Given the description of an element on the screen output the (x, y) to click on. 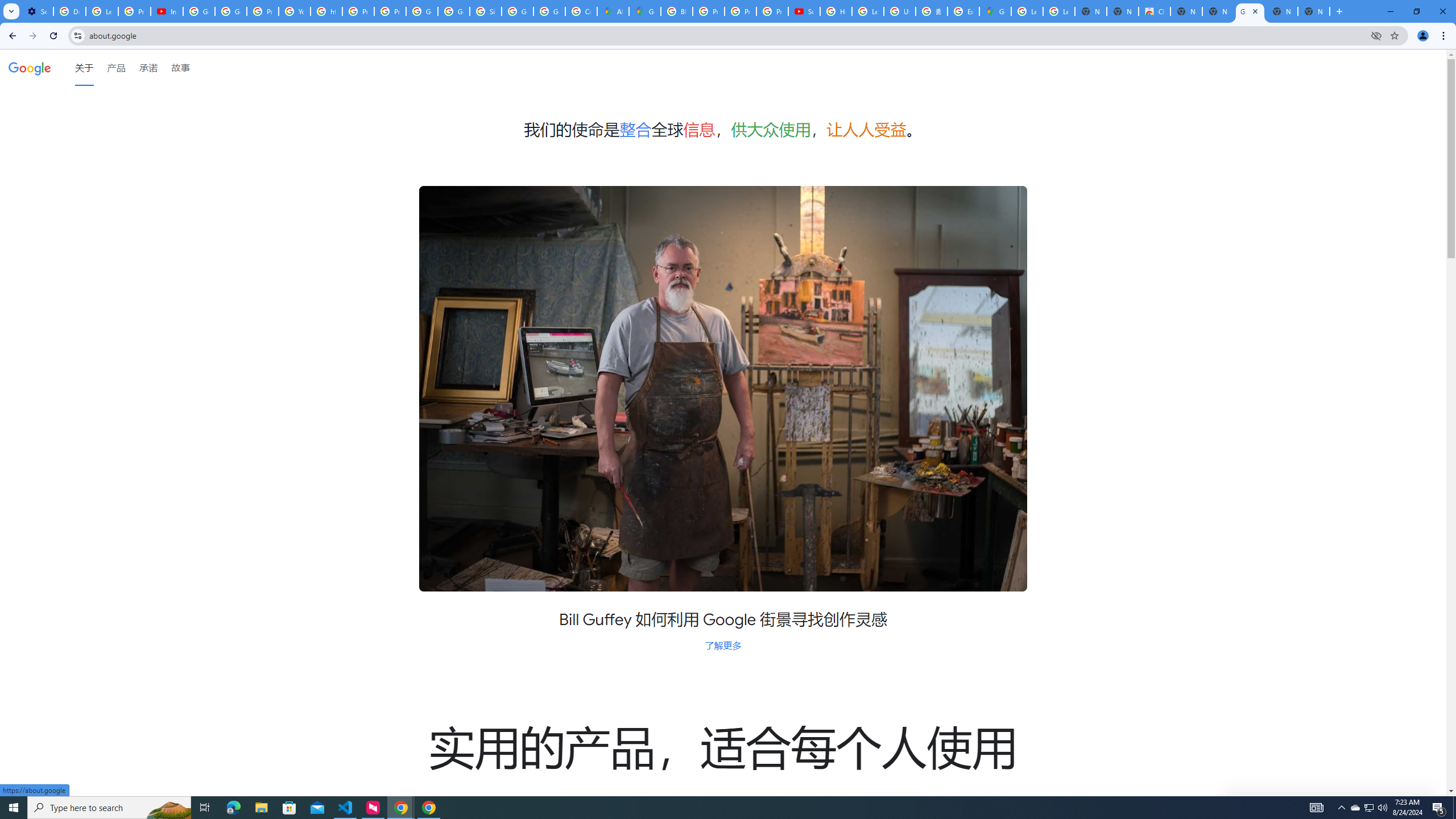
YouTube (294, 11)
Privacy Help Center - Policies Help (708, 11)
New Tab (1313, 11)
